Given the description of an element on the screen output the (x, y) to click on. 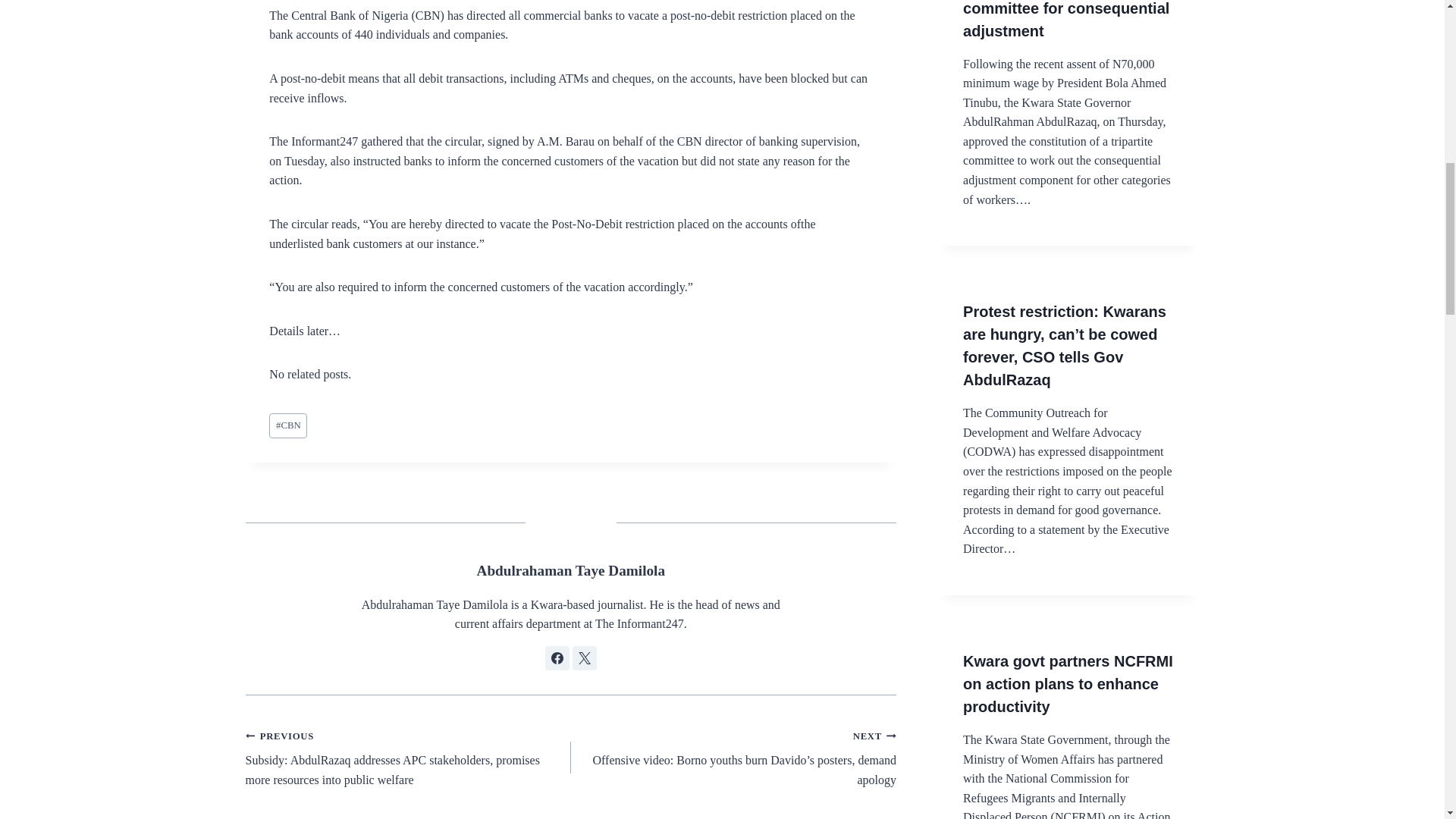
Posts by Abdulrahaman Taye Damilola (571, 570)
CBN (288, 425)
Follow Abdulrahaman Taye Damilola on X formerly Twitter (584, 658)
Follow Abdulrahaman Taye Damilola on Facebook (556, 658)
Abdulrahaman Taye Damilola (571, 570)
